Given the description of an element on the screen output the (x, y) to click on. 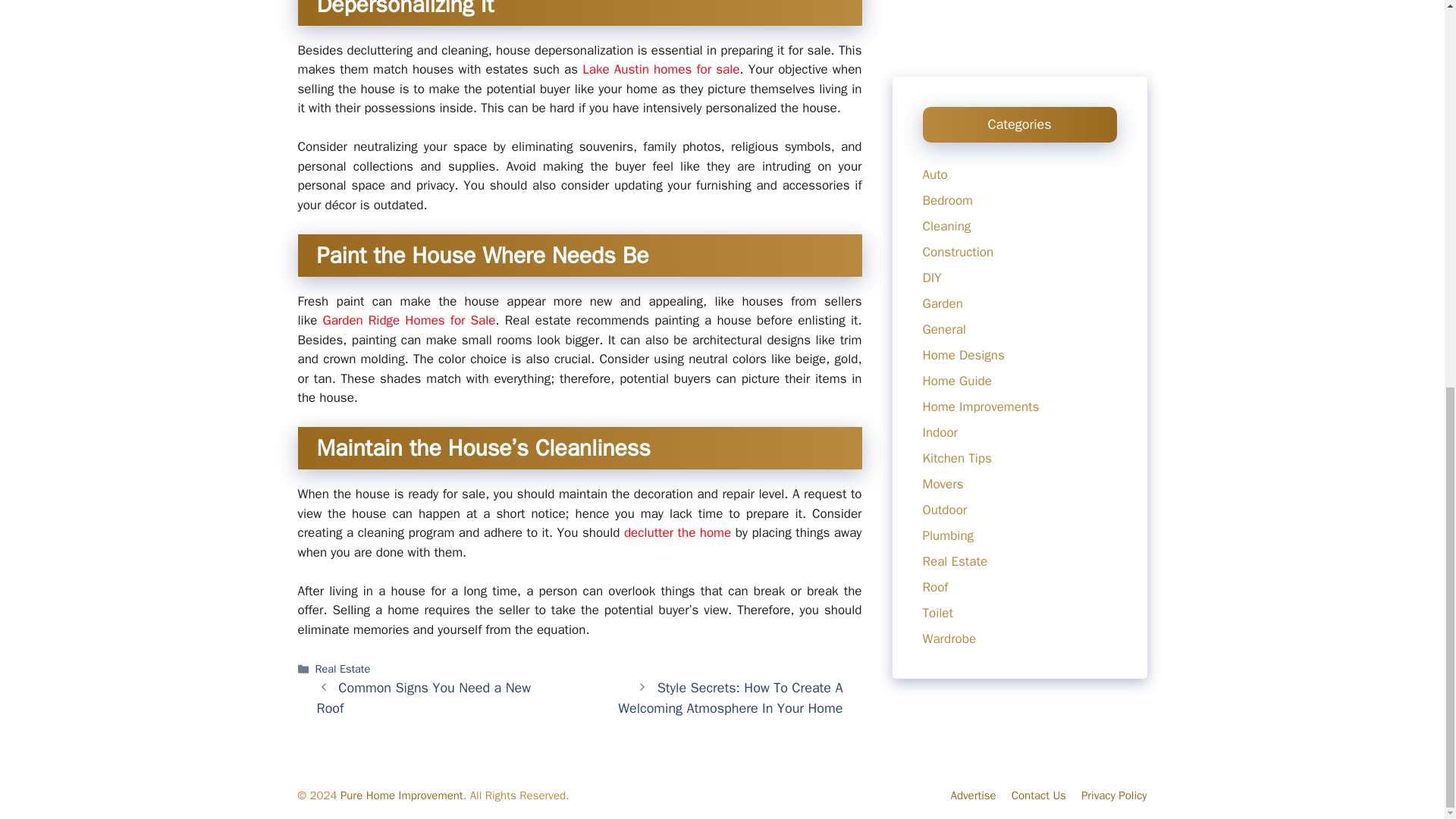
declutter the home (677, 532)
Garden Ridge Homes for Sale (408, 320)
Lake Austin homes for sale (660, 68)
Real Estate (343, 668)
Common Signs You Need a New Roof (424, 697)
